Given the description of an element on the screen output the (x, y) to click on. 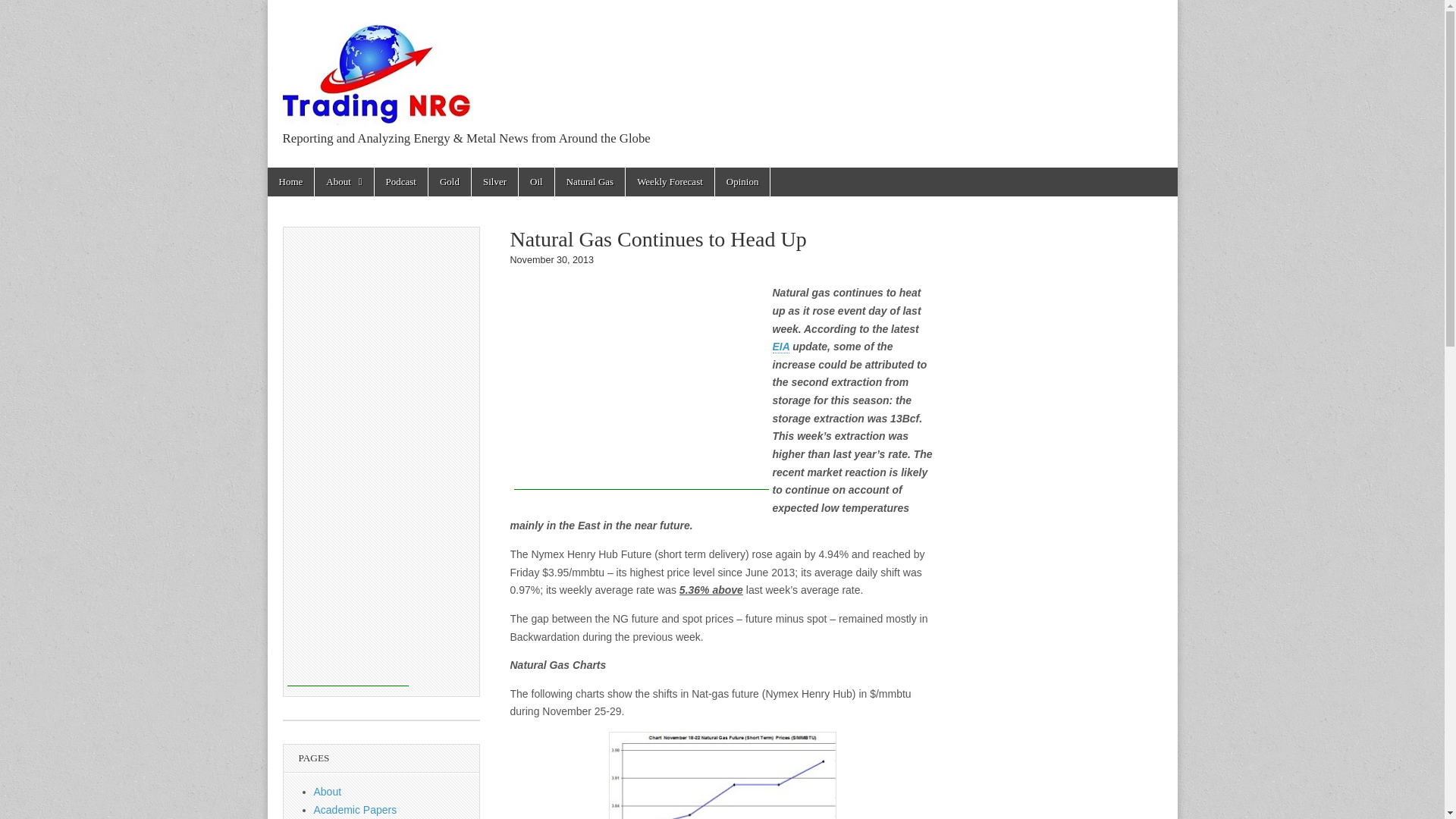
Oil (536, 181)
Gold (449, 181)
Trading NRG (381, 173)
Opinion (742, 181)
EIA (780, 346)
Weekly Forecast (670, 181)
Home (290, 181)
Academic Papers (355, 809)
Podcast New! (401, 181)
Natural Gas (589, 181)
